Given the description of an element on the screen output the (x, y) to click on. 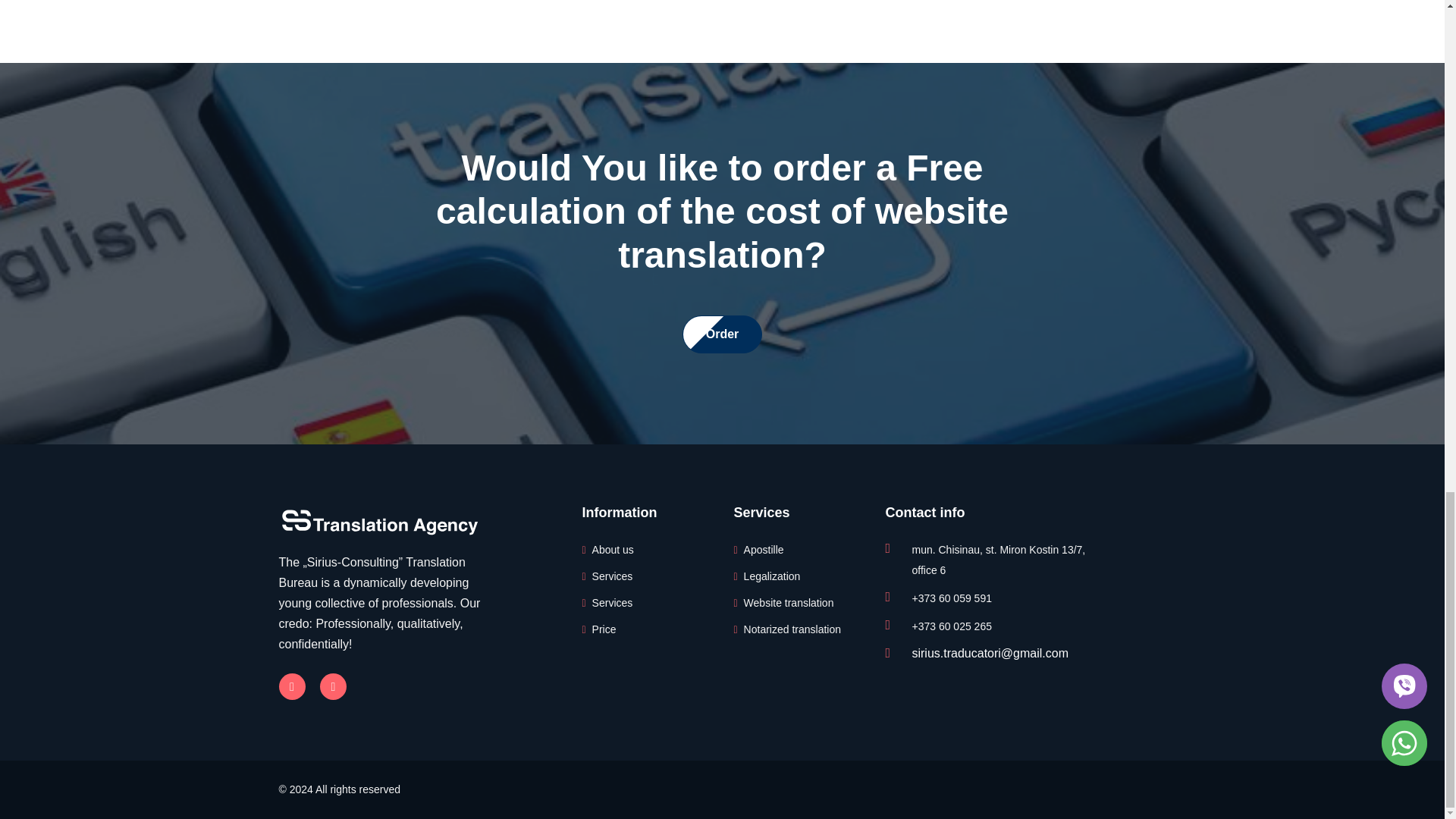
Facebook (292, 686)
Instagram (333, 686)
